Given the description of an element on the screen output the (x, y) to click on. 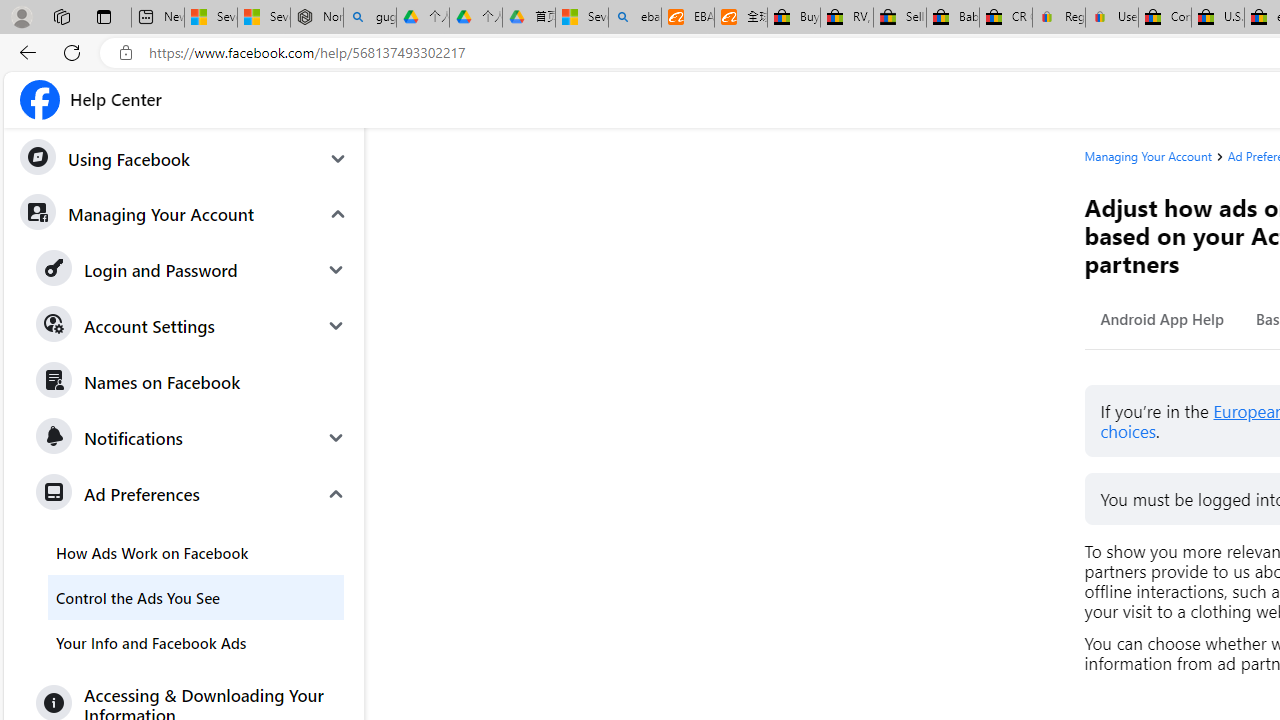
How Ads Work on Facebook (195, 552)
Your Info and Facebook Ads (196, 642)
